Given the description of an element on the screen output the (x, y) to click on. 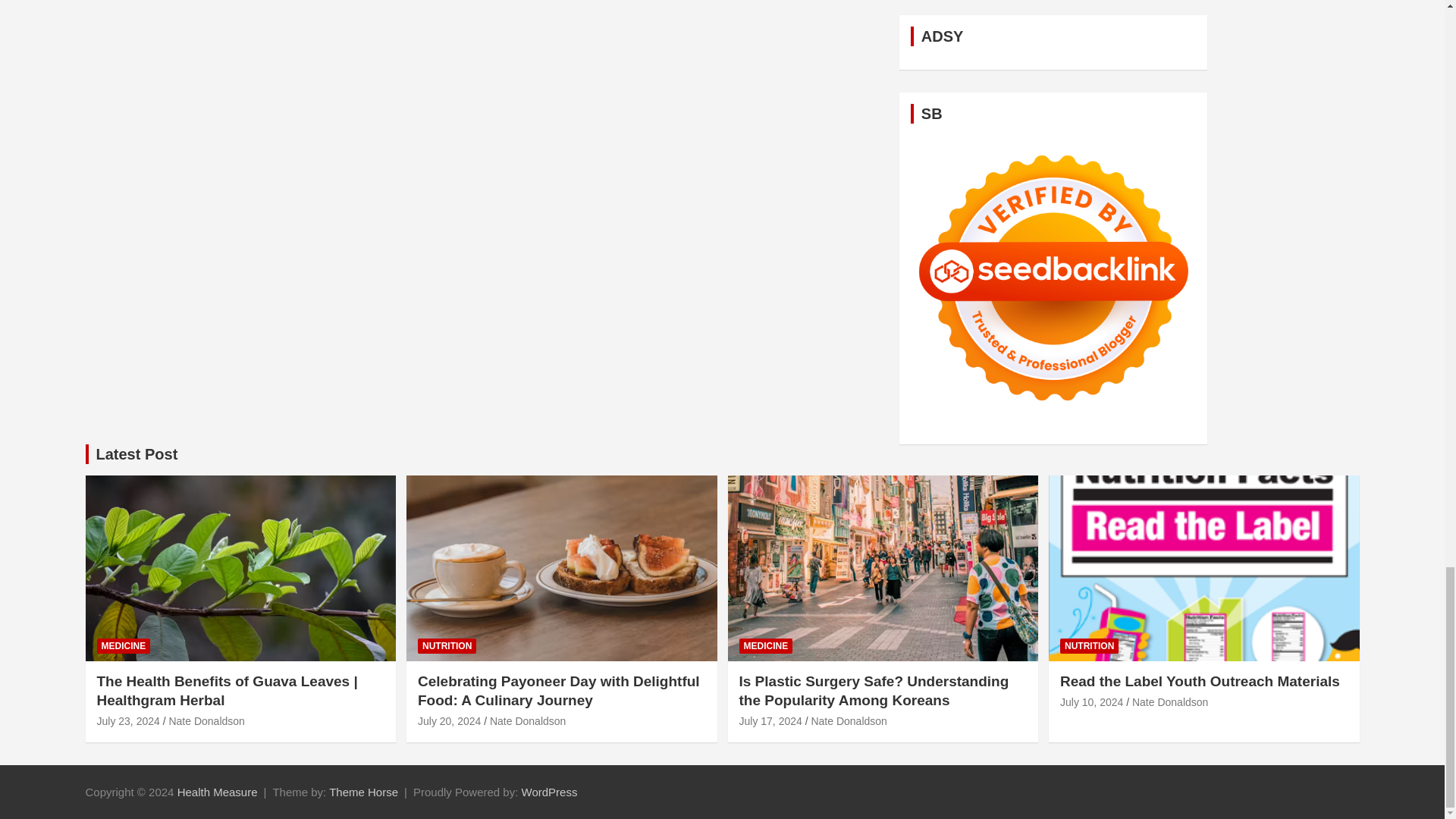
Seedbacklink (1053, 277)
Read the Label Youth Outreach Materials (1090, 702)
Theme Horse (363, 791)
WordPress (549, 791)
Health Measure (217, 791)
